Given the description of an element on the screen output the (x, y) to click on. 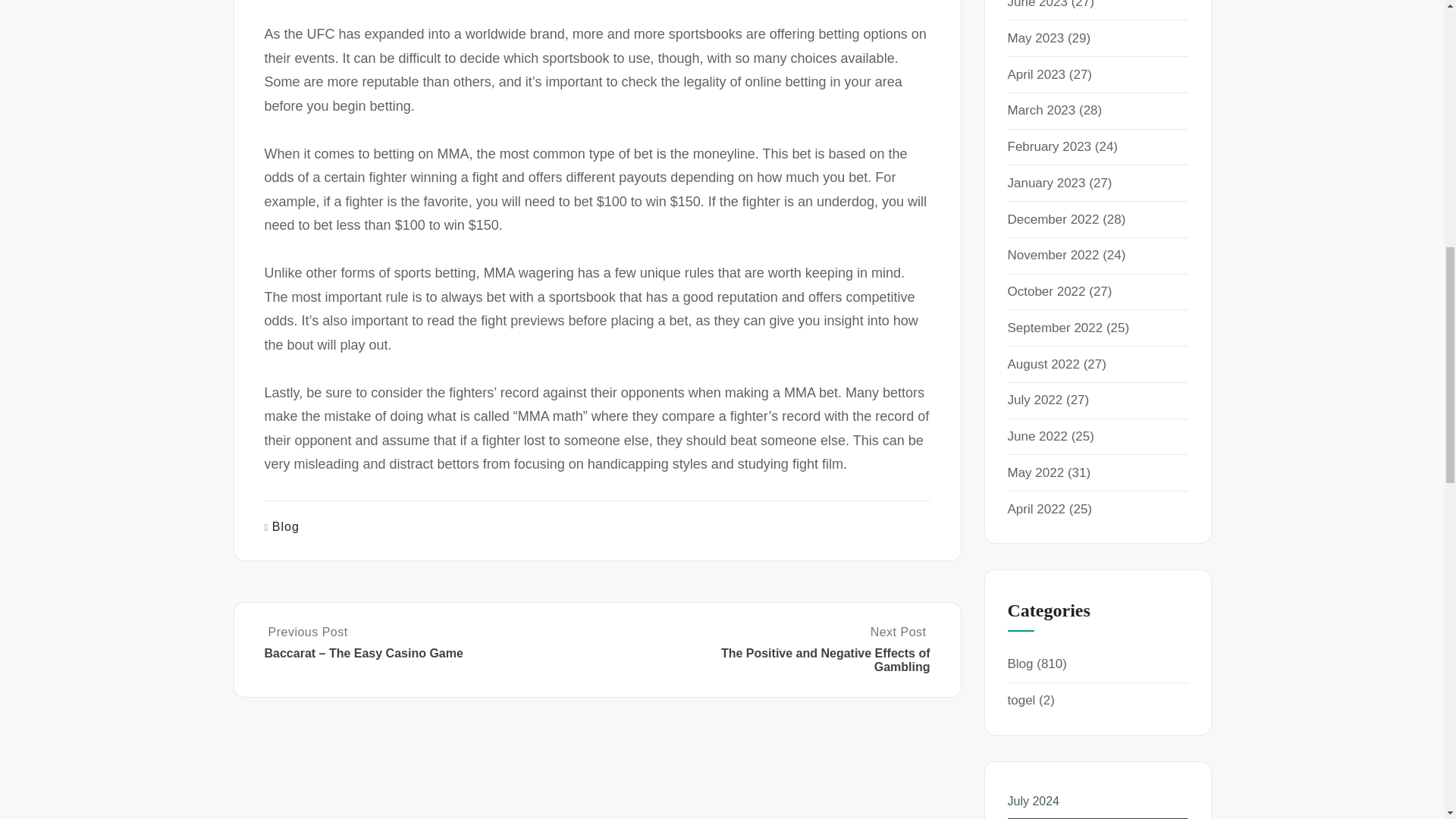
February 2023 (1048, 146)
April 2023 (1036, 74)
November 2022 (1053, 255)
September 2022 (1054, 327)
August 2022 (1042, 364)
Blog (285, 526)
March 2023 (1041, 110)
June 2023 (1037, 4)
